Given the description of an element on the screen output the (x, y) to click on. 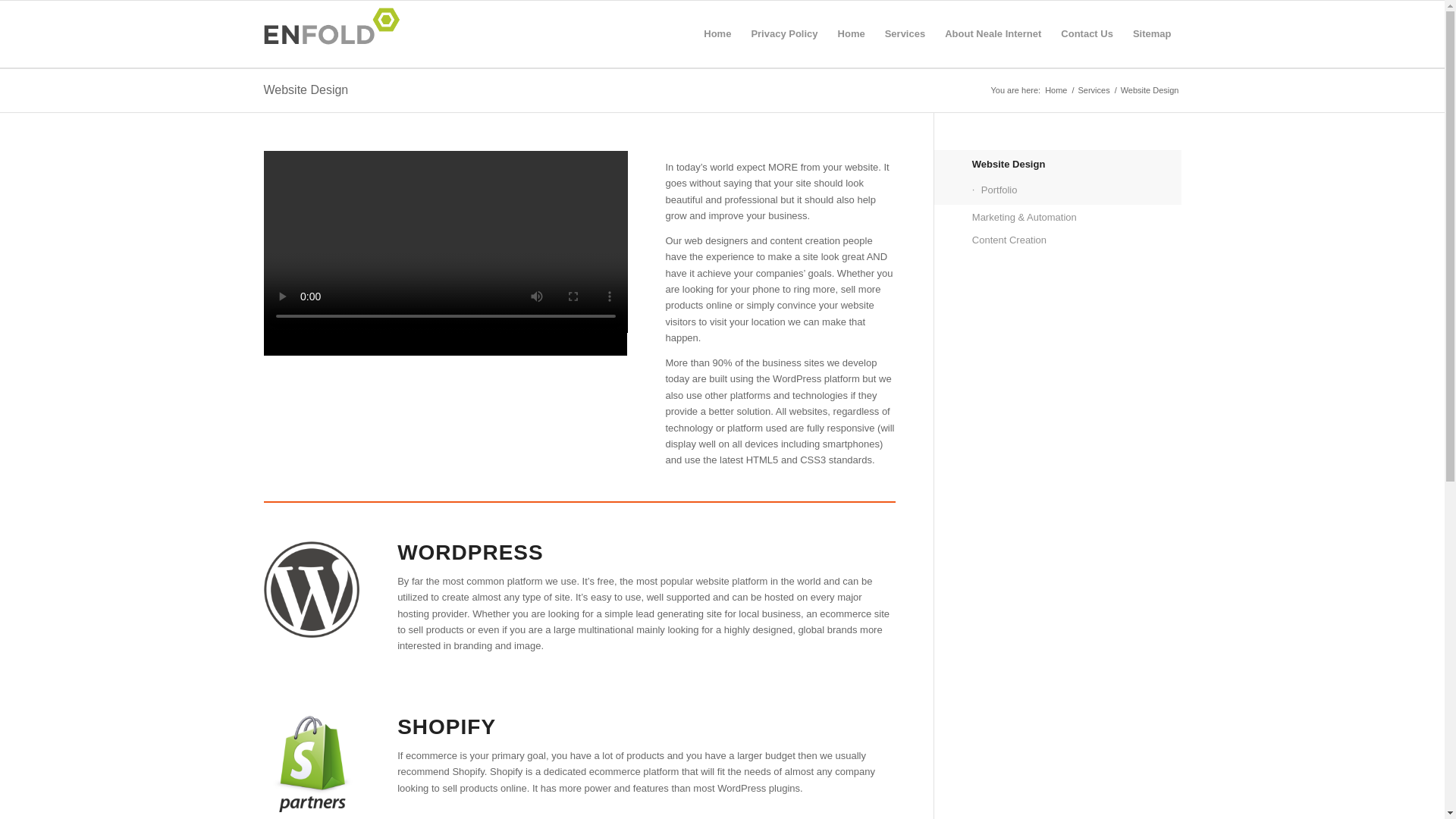
Home (851, 33)
Neale Internet (1055, 90)
wordpress logo (311, 589)
Content Creation (1076, 240)
About Neale Internet (992, 33)
Home (717, 33)
Home (1055, 90)
Privacy Policy (784, 33)
Shopify Partner Logo (311, 763)
Services (1093, 90)
Website Design (306, 89)
Permanent Link: Website Design (306, 89)
Sitemap (1151, 33)
Contact Us (1086, 33)
Website Design (1076, 164)
